Given the description of an element on the screen output the (x, y) to click on. 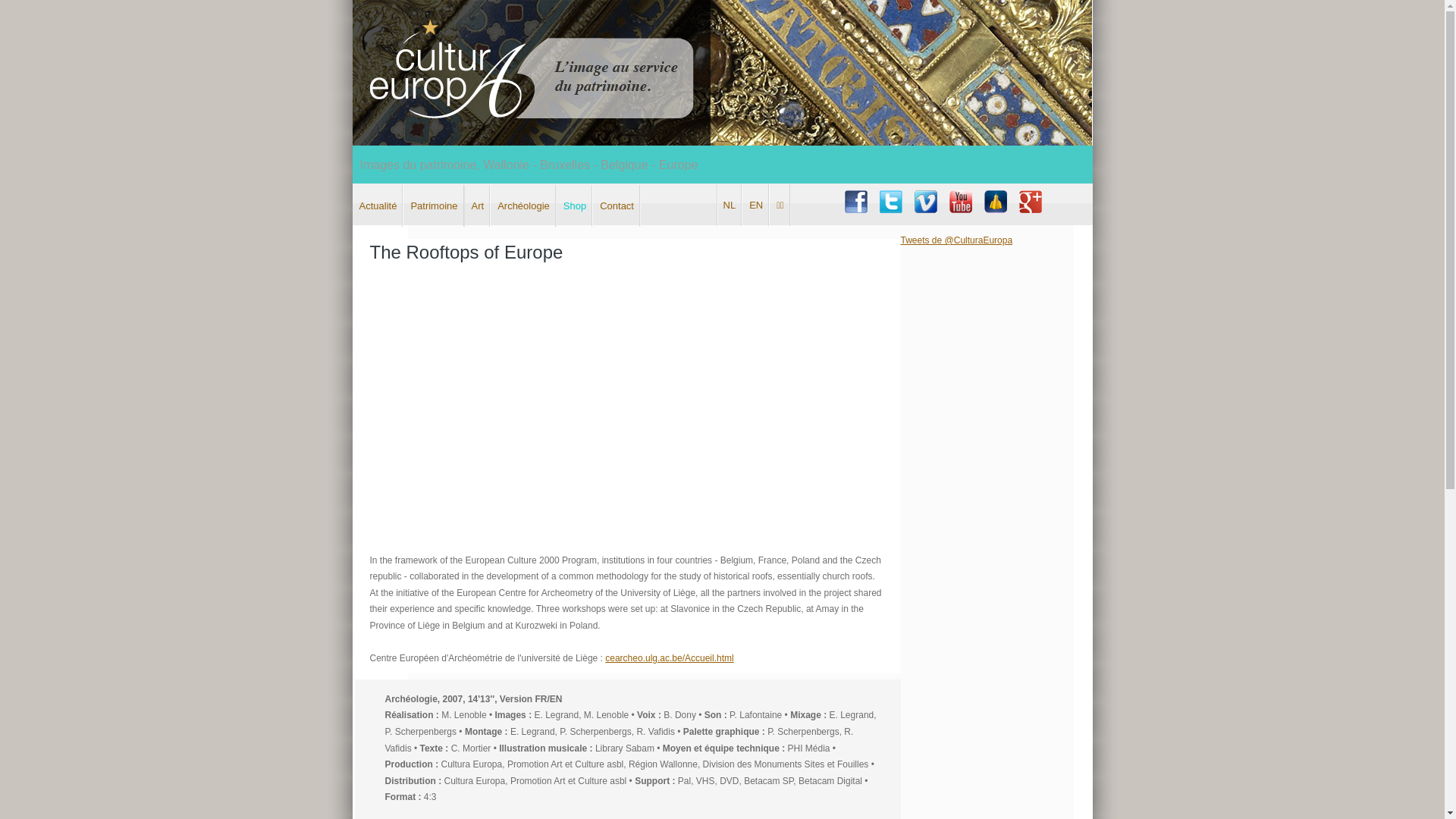
EN Element type: text (755, 204)
Shop Element type: text (574, 205)
Patrimoine Element type: text (433, 205)
cearcheo.ulg.ac.be/Accueil.html Element type: text (669, 657)
NL Element type: text (728, 204)
Tweets de @CulturaEuropa Element type: text (956, 240)
Art Element type: text (477, 205)
Contact Element type: text (616, 205)
